Given the description of an element on the screen output the (x, y) to click on. 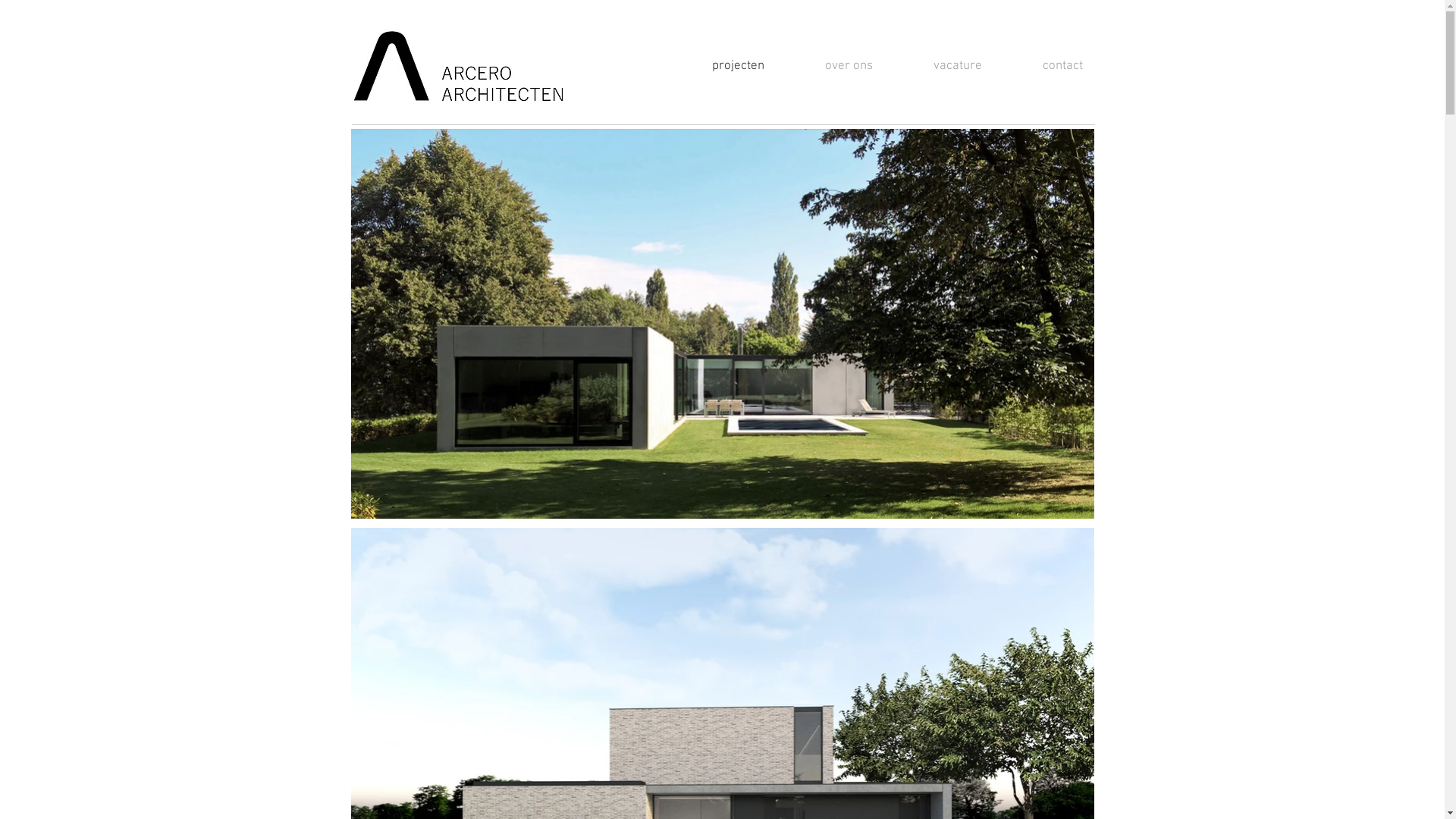
over ons Element type: text (829, 65)
projecten Element type: text (718, 65)
vacature Element type: text (938, 65)
contact Element type: text (1043, 65)
